Given the description of an element on the screen output the (x, y) to click on. 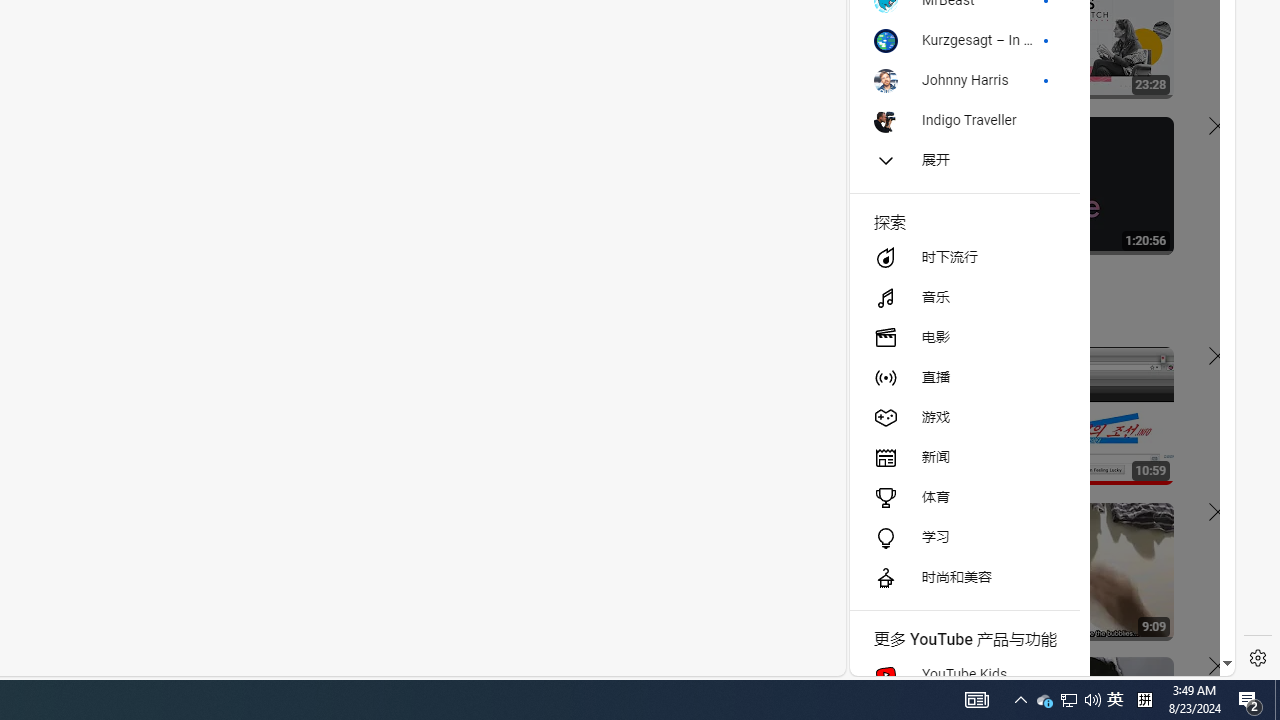
YouTube (1034, 432)
YouTube Kids (963, 674)
Indigo Traveller (963, 120)
Class: dict_pnIcon rms_img (1028, 660)
Click to scroll right (1196, 83)
